Given the description of an element on the screen output the (x, y) to click on. 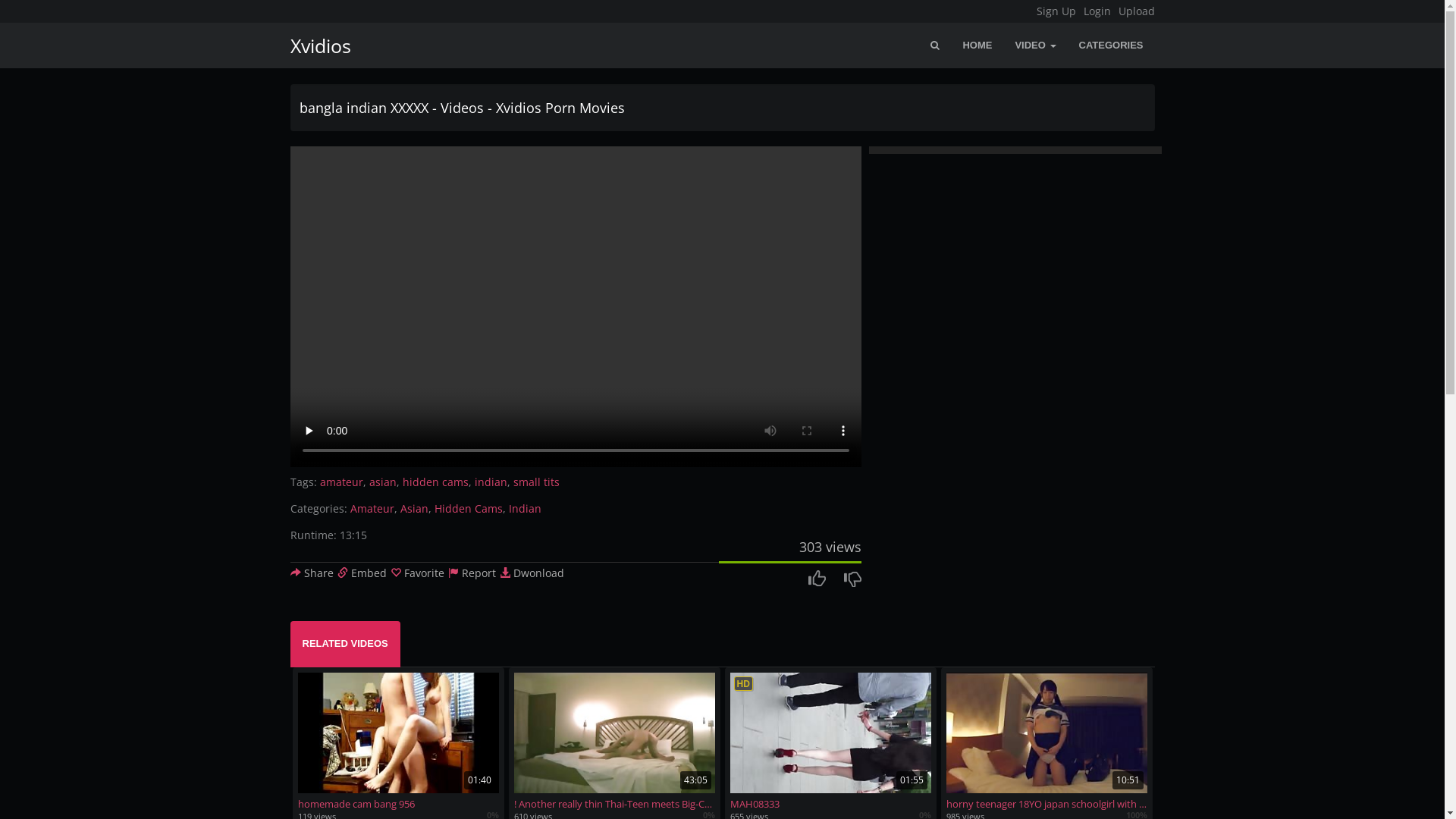
hidden cams Element type: text (434, 481)
Report Element type: text (471, 572)
small tits Element type: text (535, 481)
Upload Element type: text (1135, 11)
43:05
! Another really thin Thai-Teen meets Big-Cock ! Element type: text (614, 741)
asian Element type: text (381, 481)
CATEGORIES Element type: text (1110, 45)
indian Element type: text (490, 481)
Login Element type: text (1096, 11)
Share Element type: text (310, 572)
Amateur Element type: text (372, 508)
Embed Element type: text (360, 572)
RELATED VIDEOS Element type: text (344, 644)
VIDEO Element type: text (1034, 45)
Sign Up Element type: text (1055, 11)
Asian Element type: text (414, 508)
01:40
homemade cam bang 956 Element type: text (397, 741)
Xvidios Element type: text (315, 45)
amateur Element type: text (341, 481)
HD
01:55
MAH08333 Element type: text (829, 741)
Indian Element type: text (524, 508)
Hidden Cams Element type: text (467, 508)
Dwonload Element type: text (530, 572)
Favorite Element type: text (416, 572)
HOME Element type: text (976, 45)
